Given the description of an element on the screen output the (x, y) to click on. 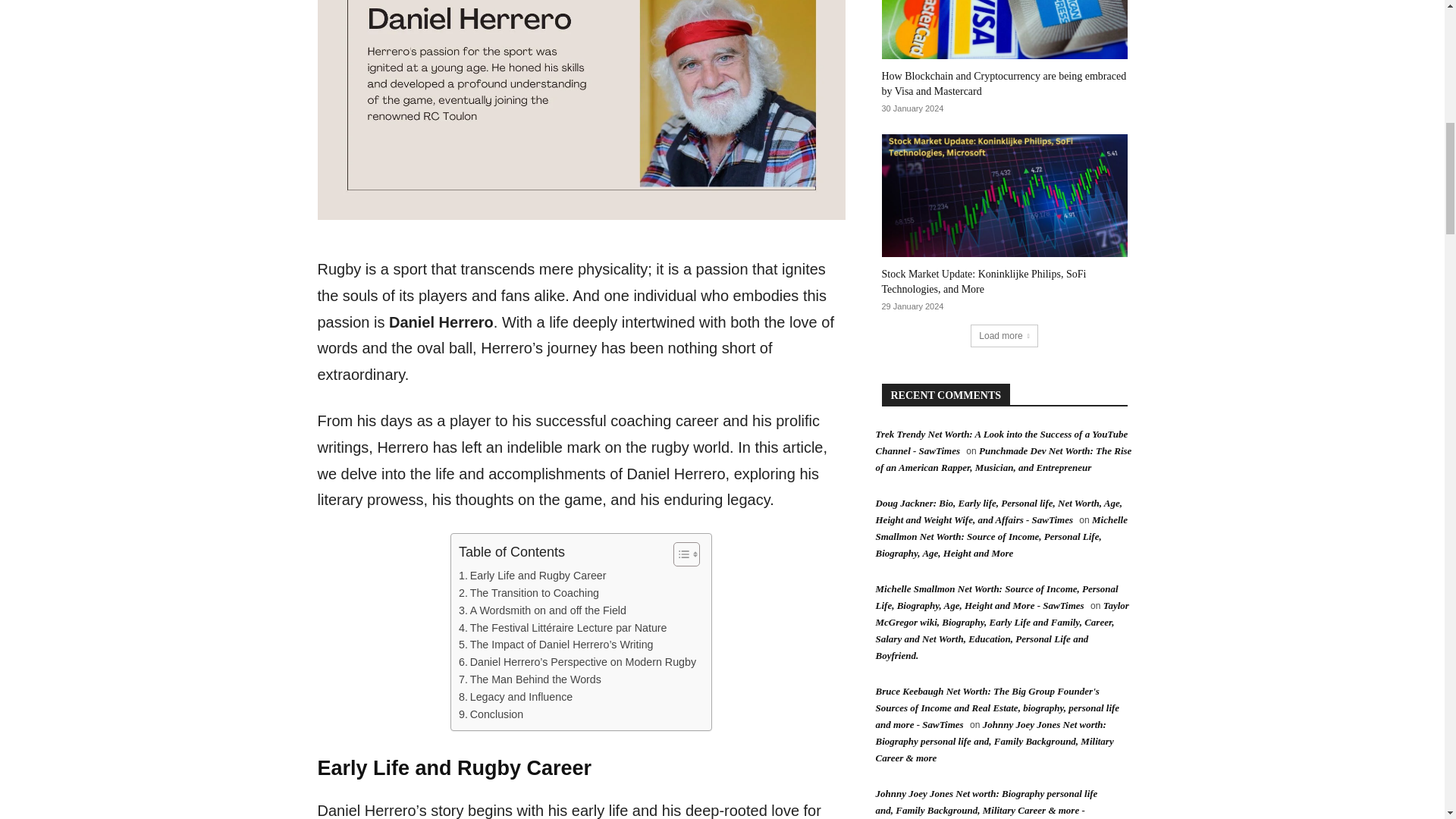
Early Life and Rugby Career (532, 575)
